Given the description of an element on the screen output the (x, y) to click on. 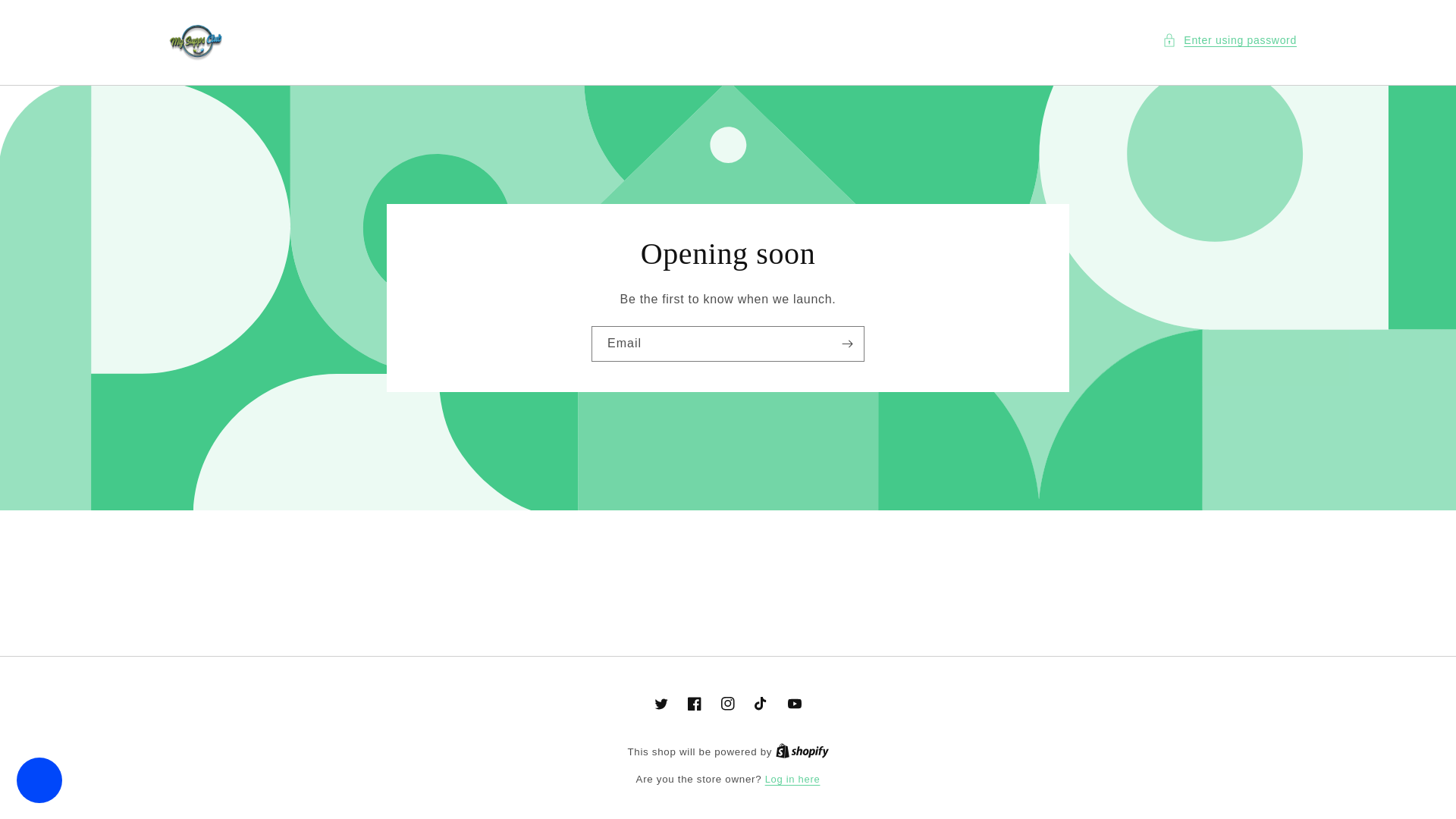
Log in here (793, 779)
Shopify online store chat (38, 781)
Skip to content (45, 17)
Instagram (727, 703)
Twitter (661, 703)
Facebook (694, 703)
TikTok (760, 703)
YouTube (793, 703)
